Given the description of an element on the screen output the (x, y) to click on. 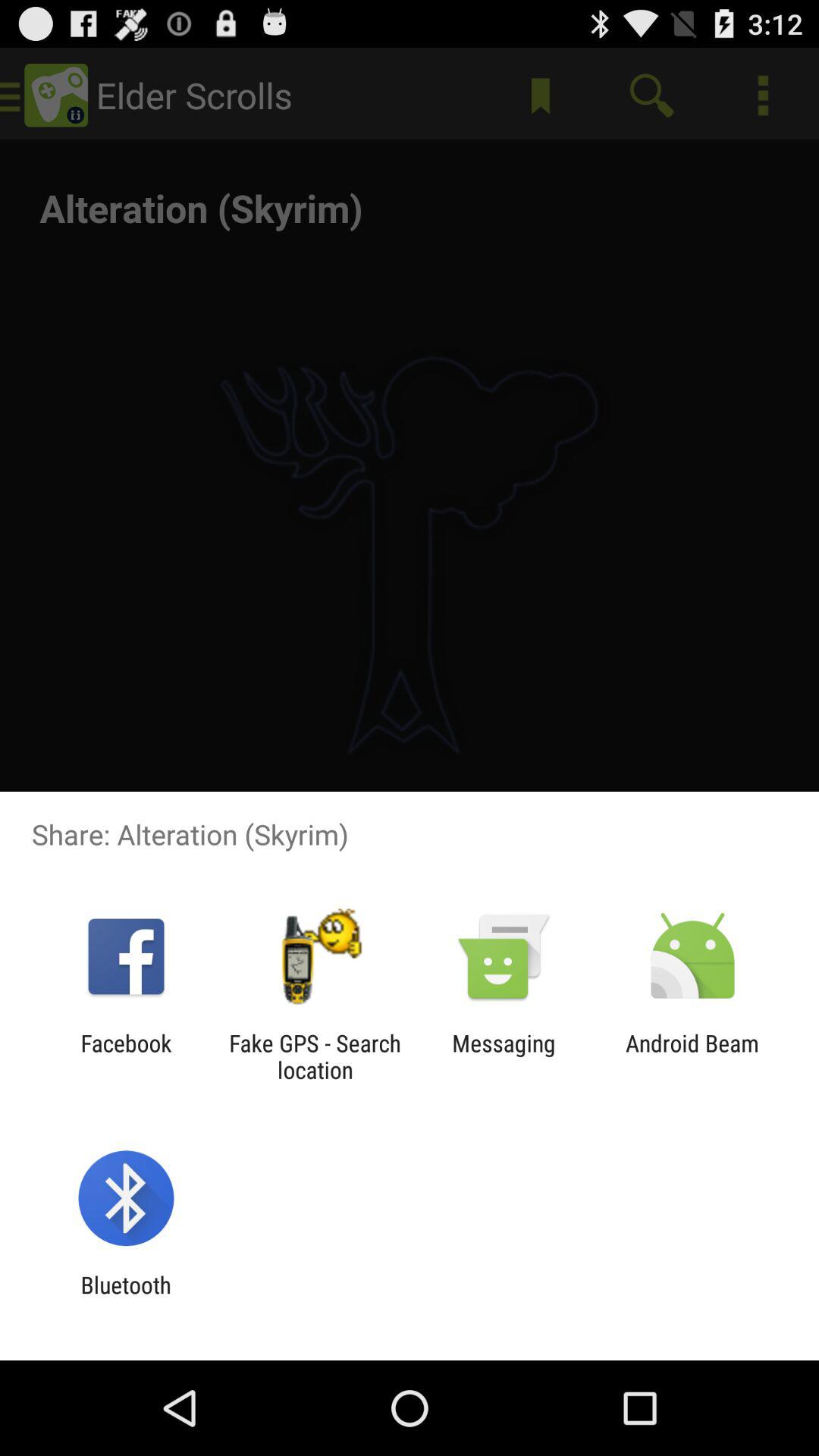
swipe to the android beam icon (692, 1056)
